Given the description of an element on the screen output the (x, y) to click on. 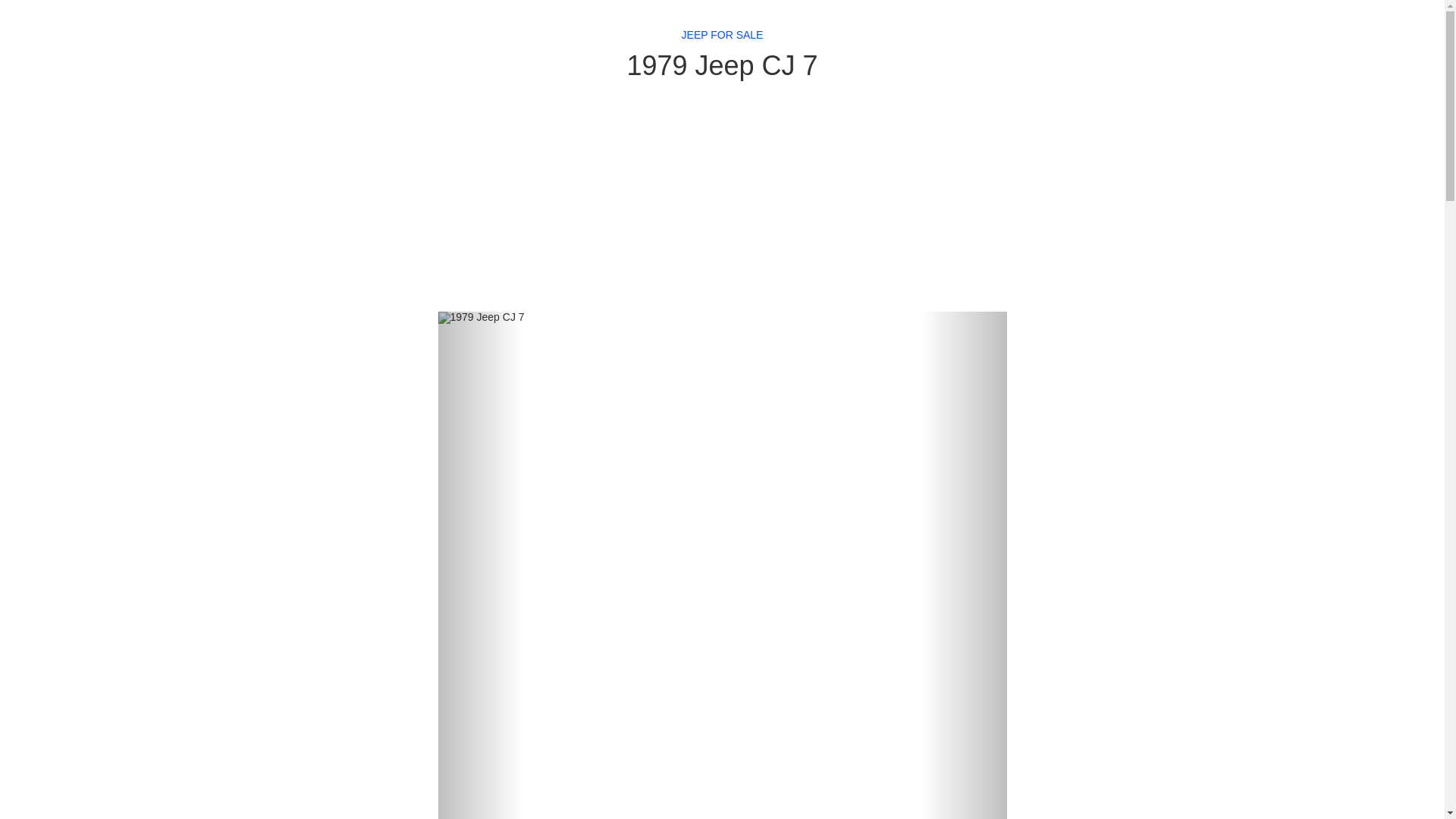
JEEP FOR SALE (721, 34)
1979 Jeep CJ 7 (722, 65)
